Given the description of an element on the screen output the (x, y) to click on. 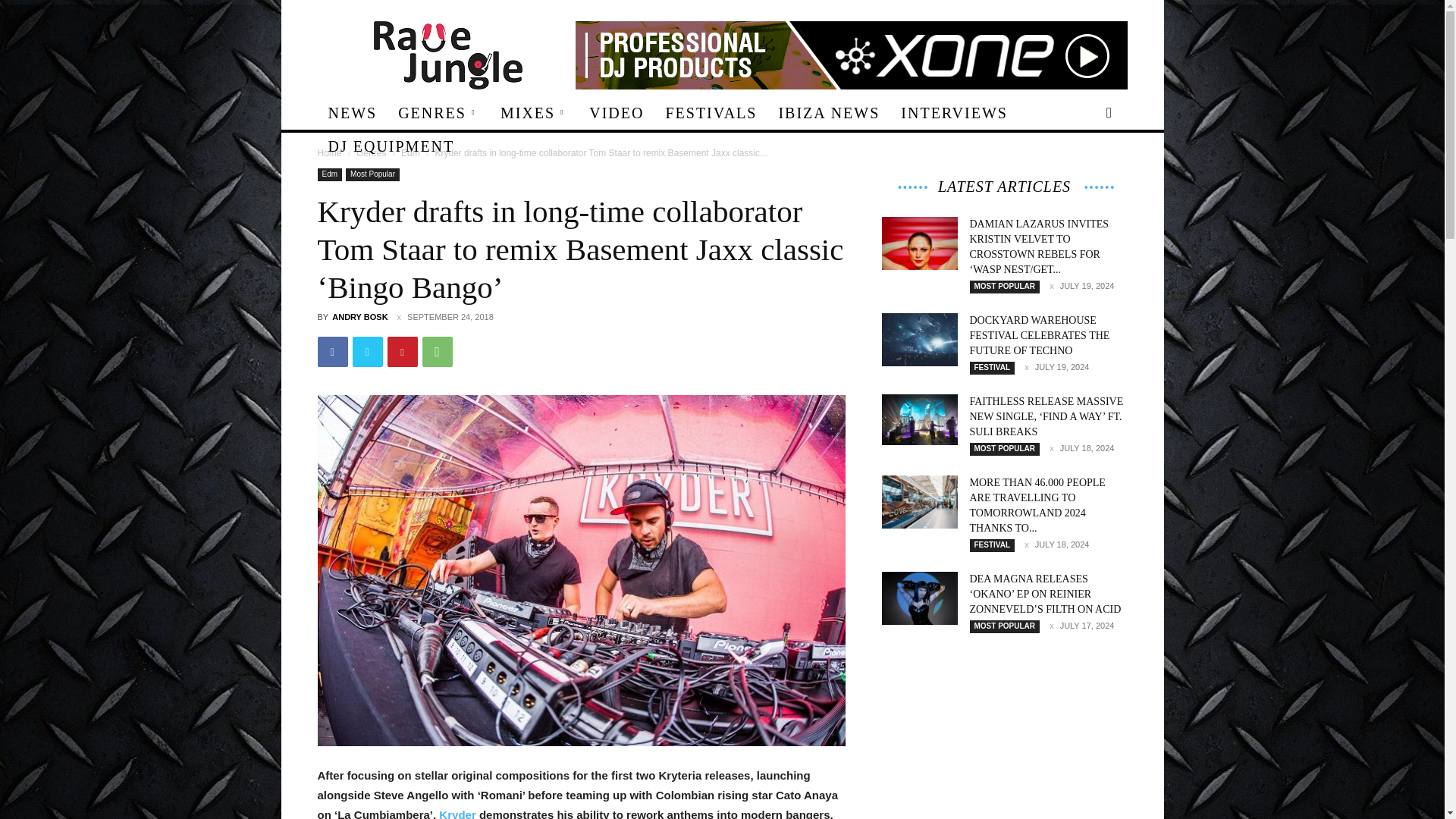
GENRES (438, 112)
NEWS (352, 112)
